Given the description of an element on the screen output the (x, y) to click on. 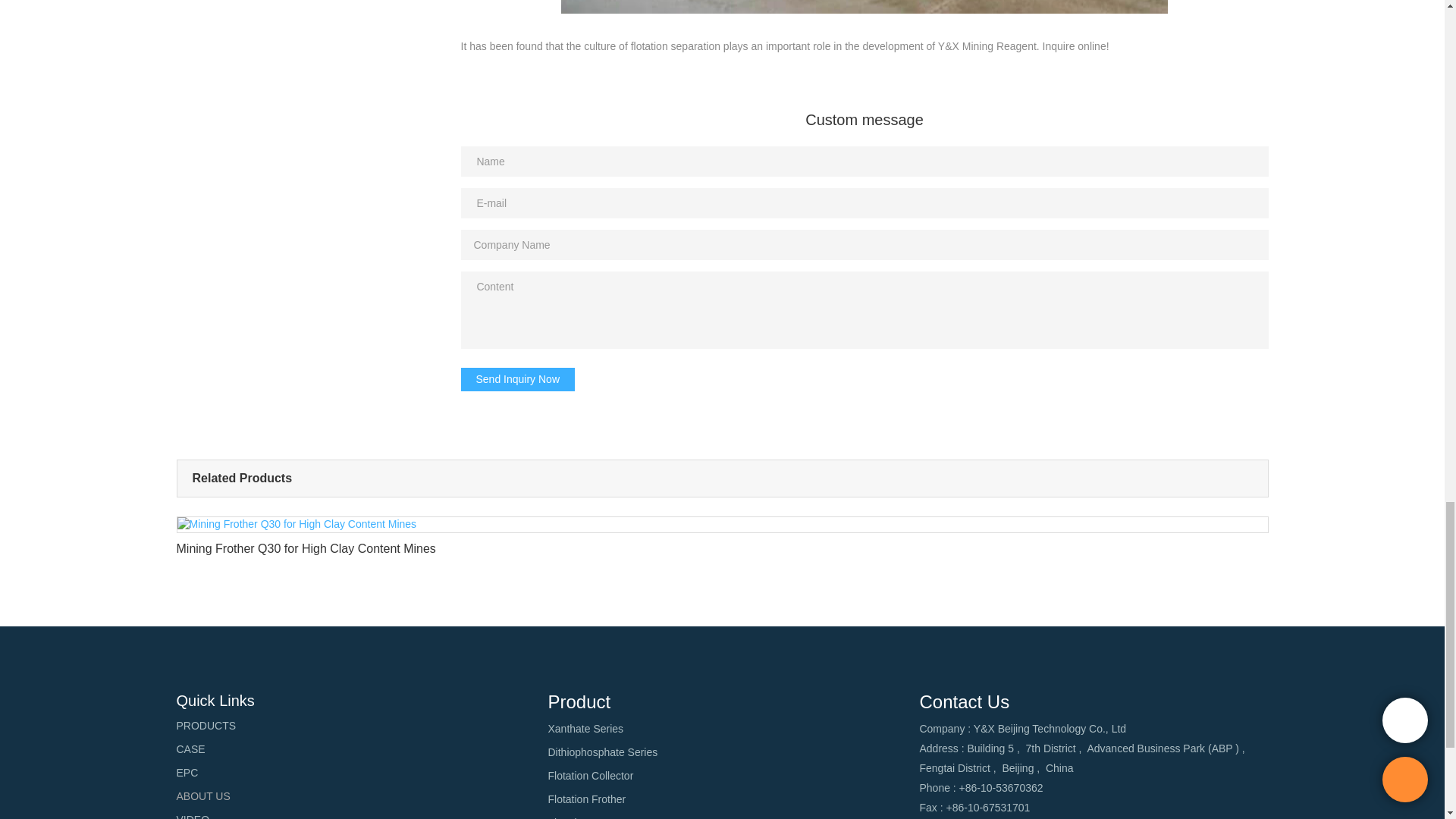
PRODUCTS (205, 726)
ABOUT US (203, 796)
Mining Frother Q30 for High Clay Content Mines (722, 540)
CASE (190, 749)
EPC (187, 773)
VIDEO (192, 816)
Send Inquiry Now (518, 378)
